Given the description of an element on the screen output the (x, y) to click on. 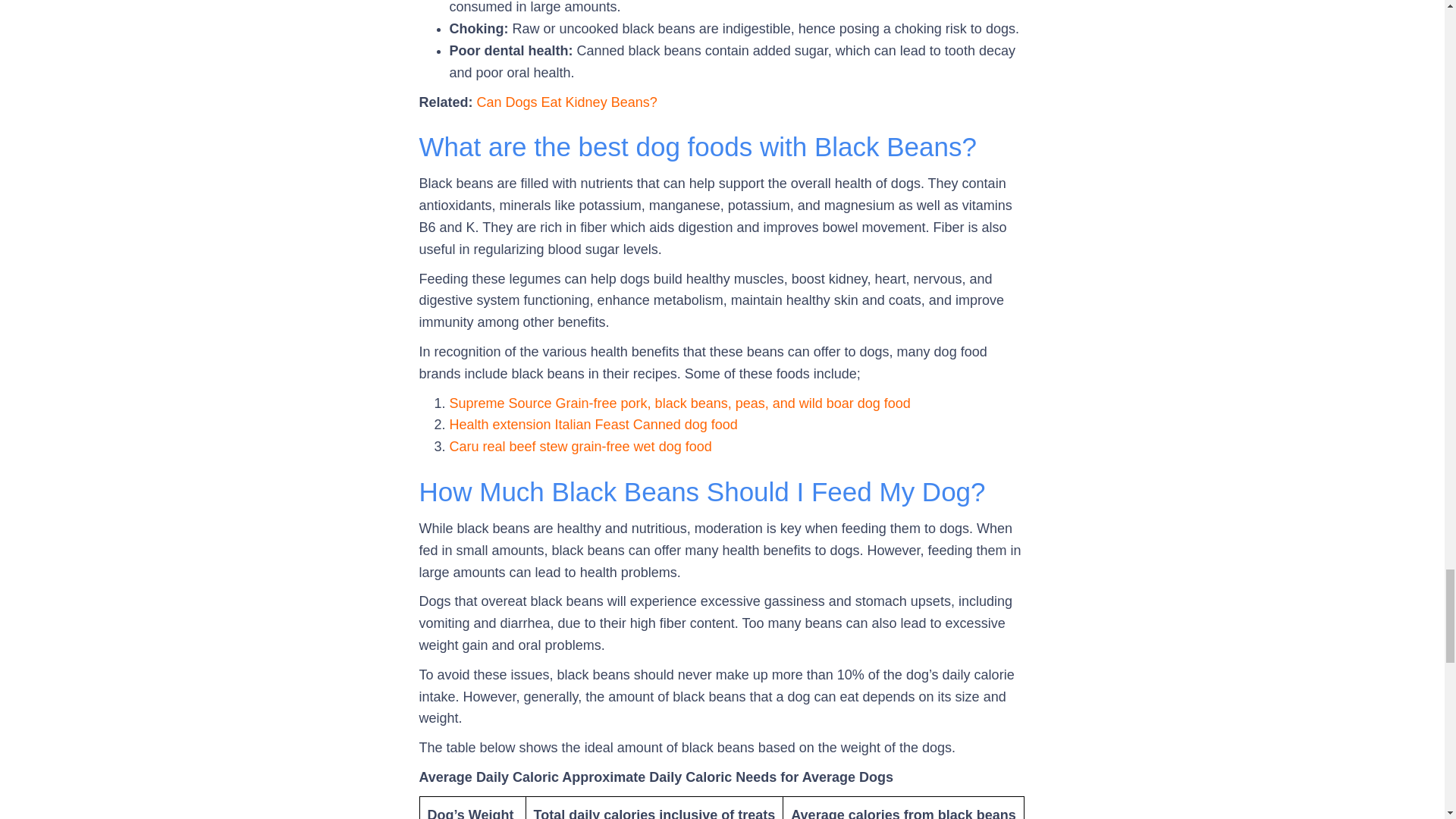
Health extension Italian Feast Canned dog food (592, 424)
Can Dogs Eat Kidney Beans? (567, 102)
Caru real beef stew grain-free wet dog food (579, 446)
